Given the description of an element on the screen output the (x, y) to click on. 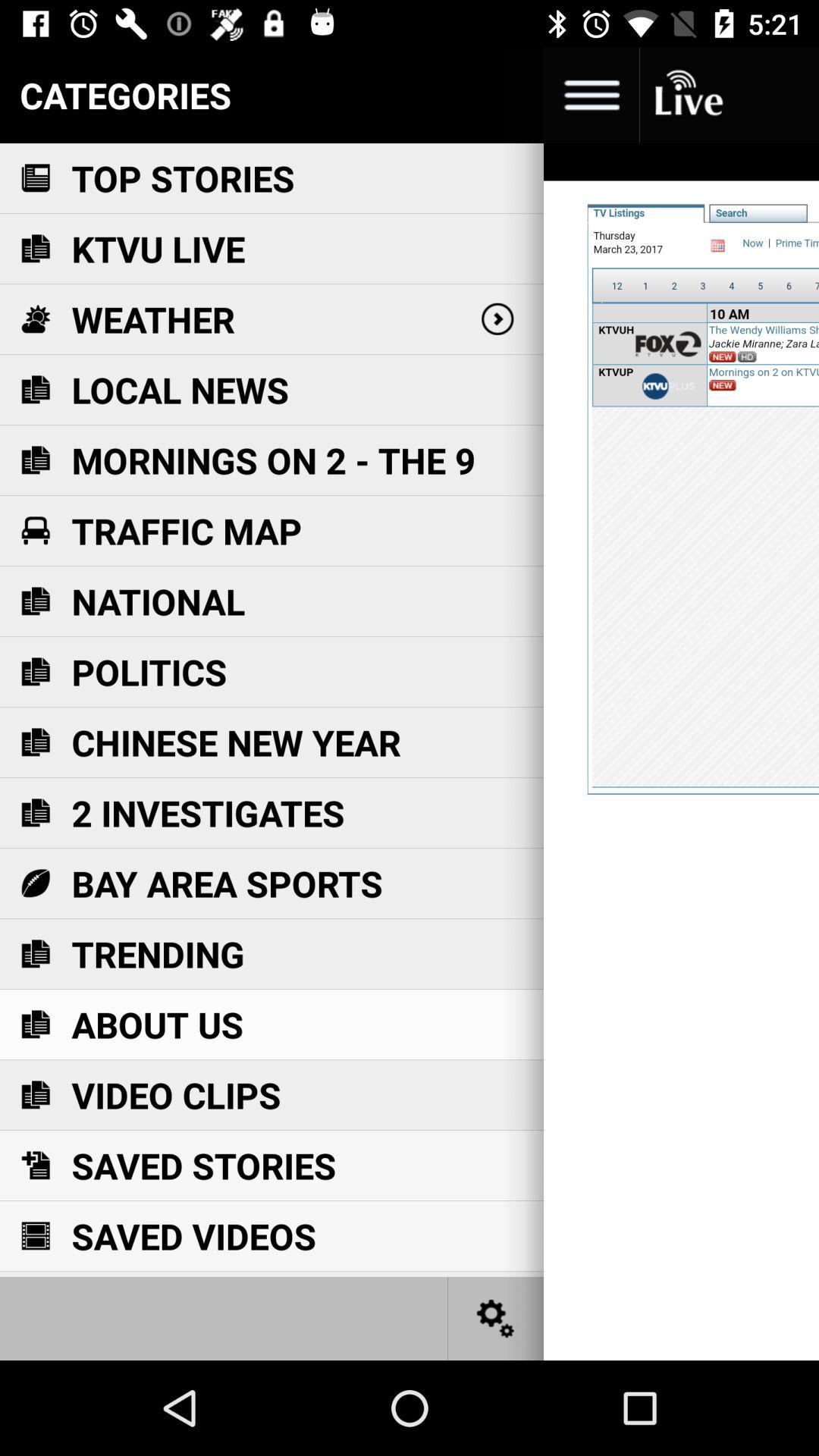
settings (495, 1318)
